Given the description of an element on the screen output the (x, y) to click on. 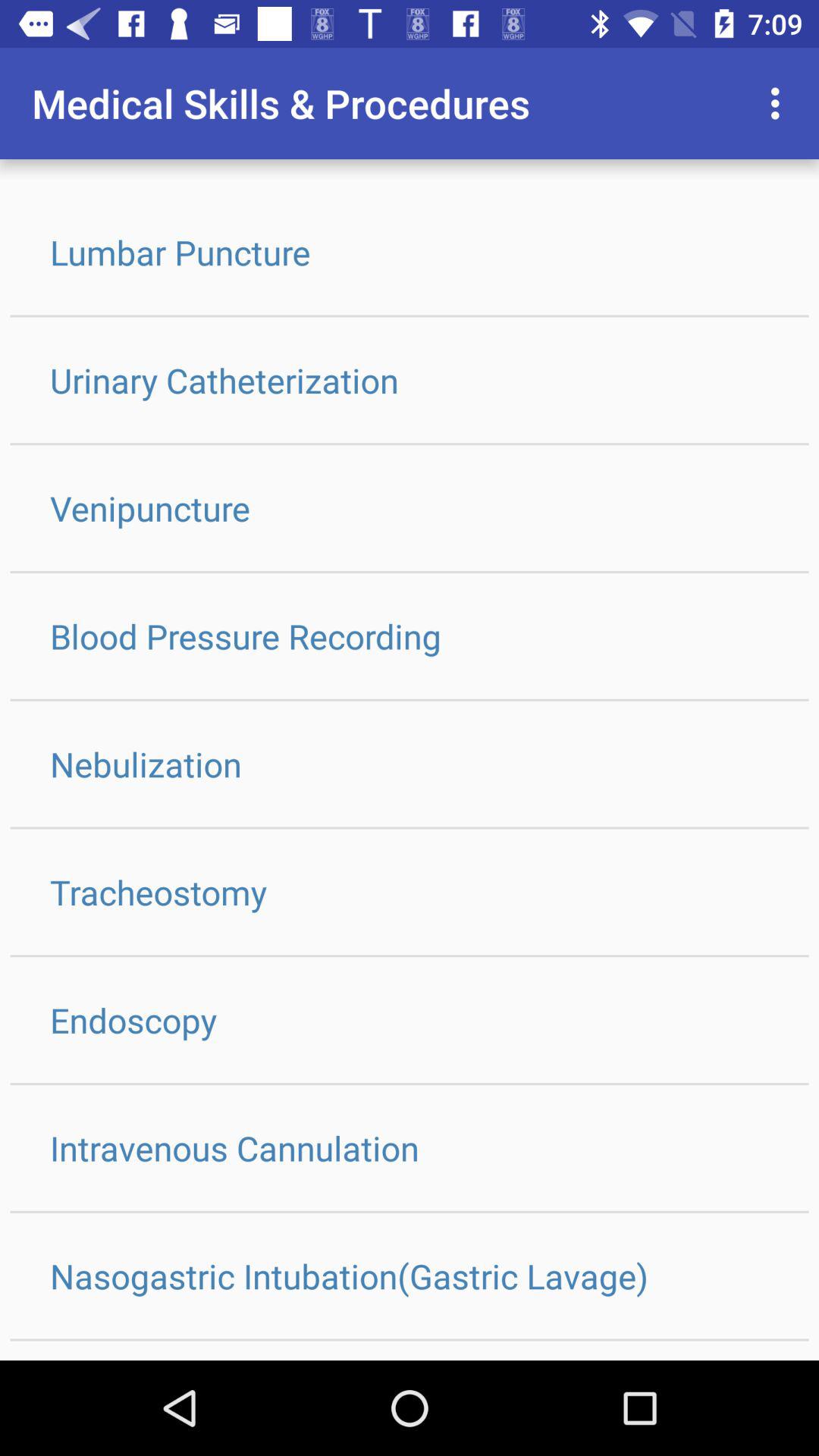
jump to blood pressure recording icon (409, 635)
